Given the description of an element on the screen output the (x, y) to click on. 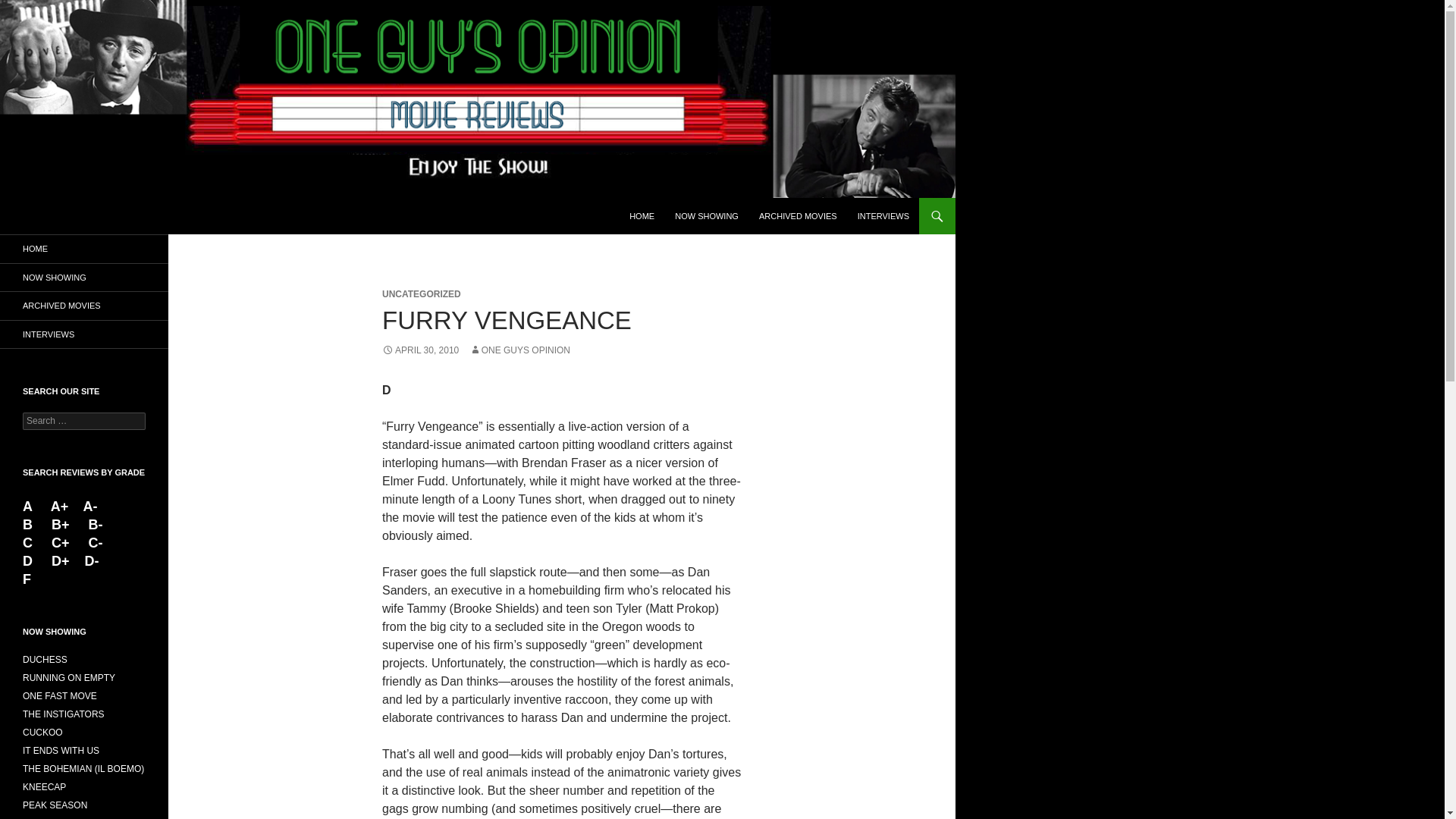
HOME (84, 248)
INTERVIEWS (84, 334)
ARCHIVED MOVIES (797, 216)
APRIL 30, 2010 (419, 349)
B (29, 524)
THE INSTIGATORS (63, 714)
B- (95, 524)
RUNNING ON EMPTY (69, 677)
HOME (641, 216)
